Given the description of an element on the screen output the (x, y) to click on. 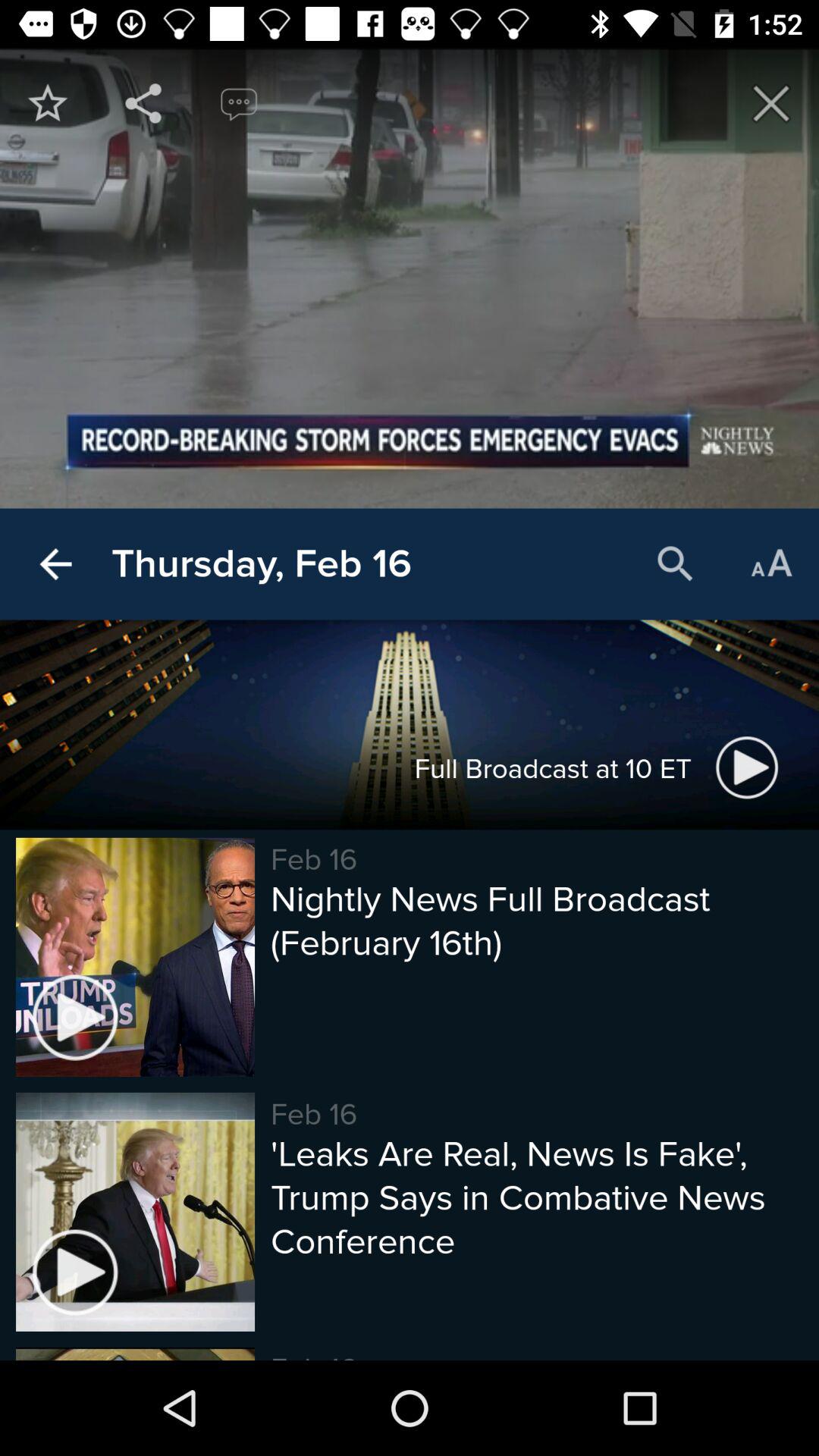
turn on icon to the right of the thursday, feb 16 icon (675, 563)
